Given the description of an element on the screen output the (x, y) to click on. 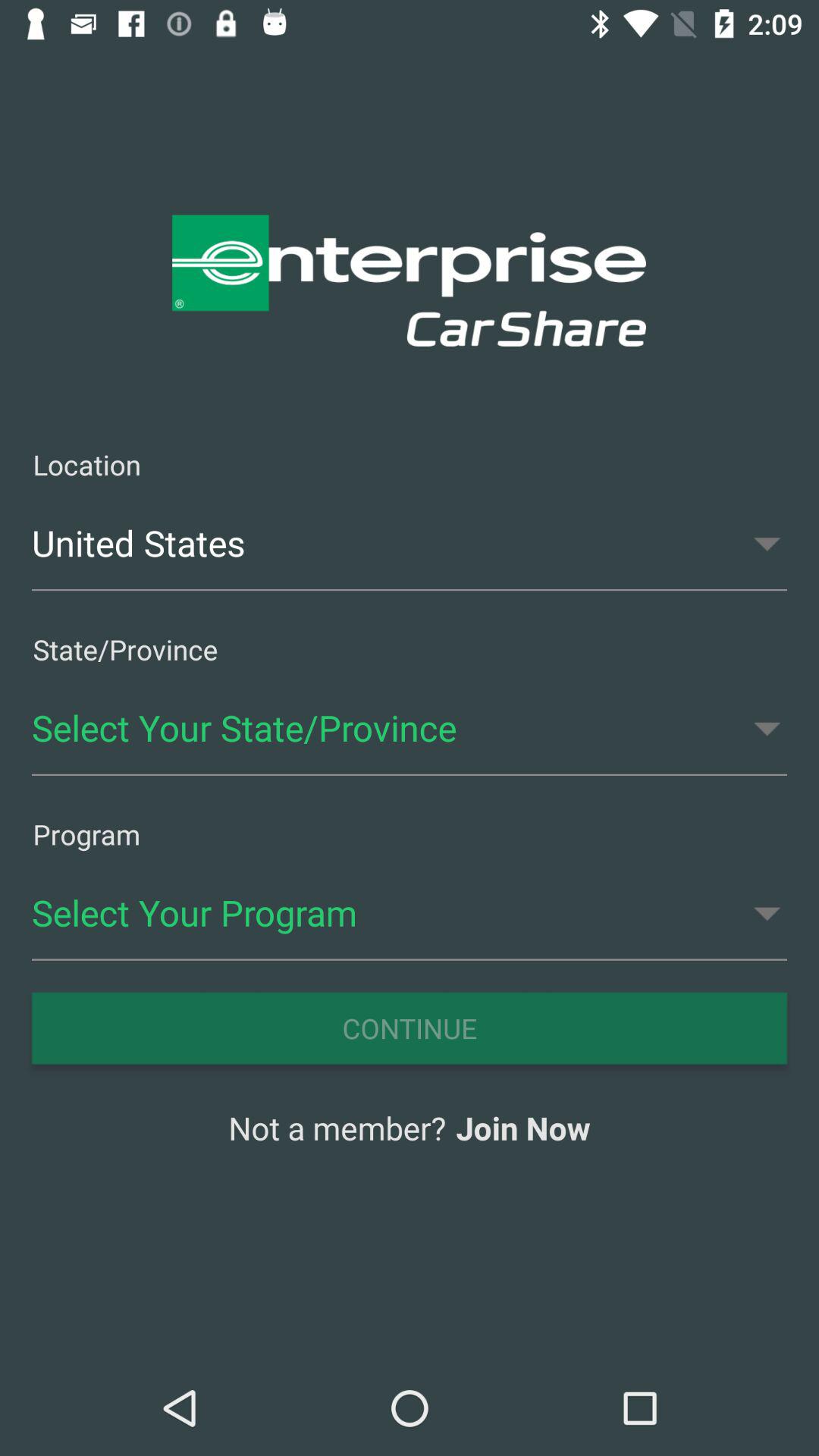
turn on the item above the state/province item (409, 542)
